Given the description of an element on the screen output the (x, y) to click on. 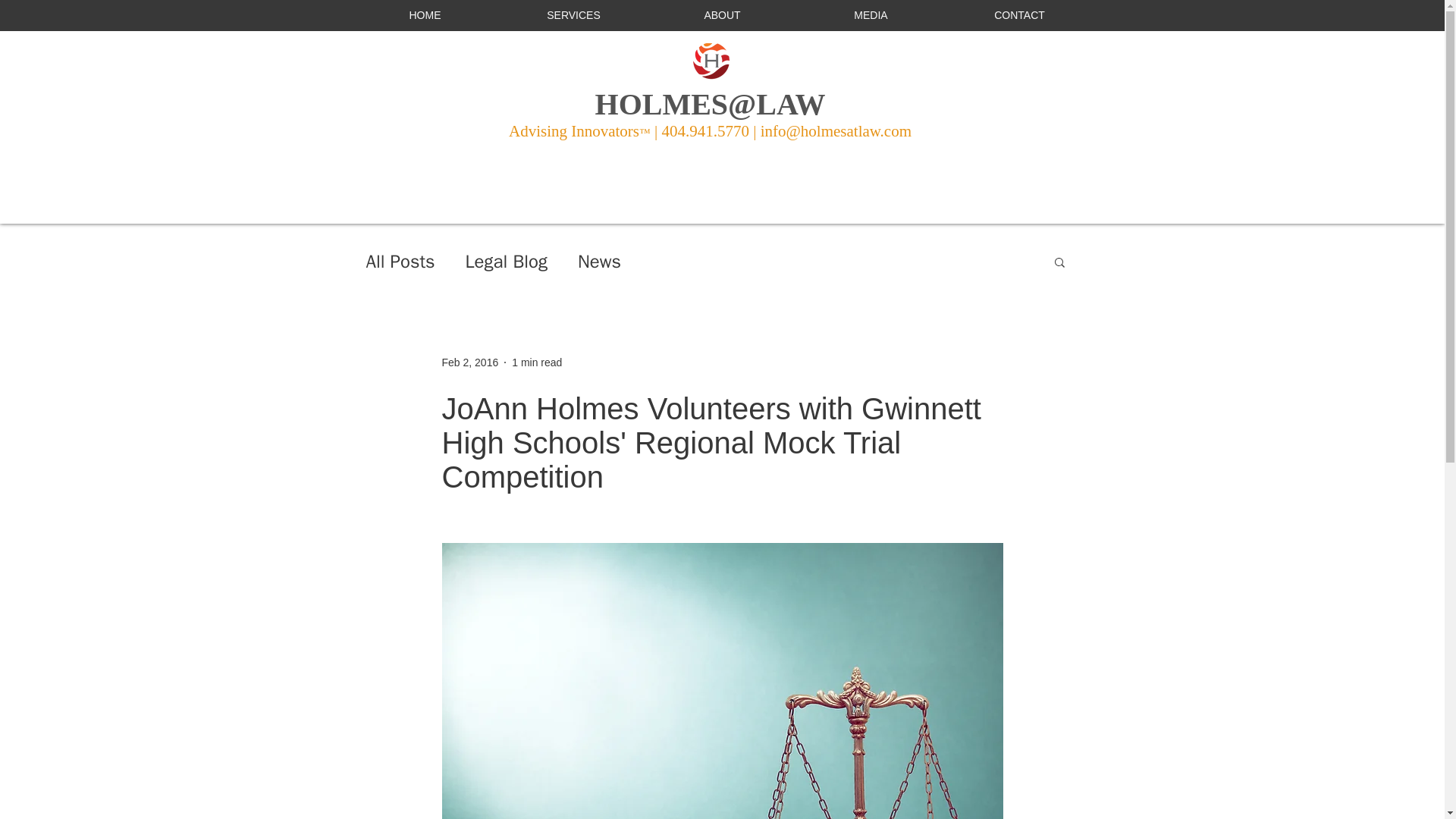
HOME (424, 15)
H Logo for Website.png (711, 61)
Feb 2, 2016 (469, 362)
Advising Innovators (573, 131)
Legal Blog (506, 261)
All Posts (399, 261)
News (599, 261)
1 min read (537, 362)
CONTACT (1018, 15)
